Given the description of an element on the screen output the (x, y) to click on. 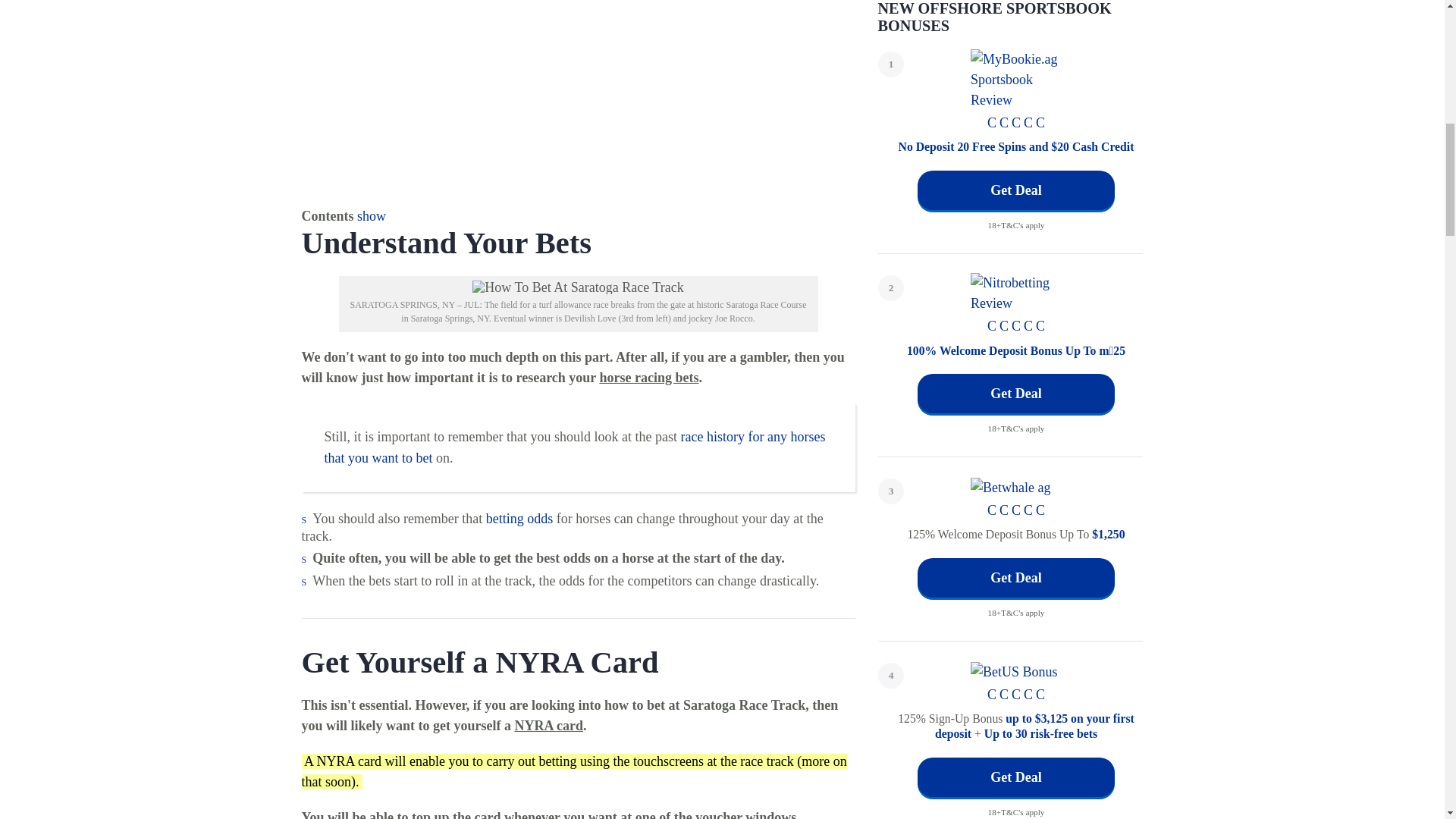
How To Bet At Saratoga Race Track 2 (576, 287)
MyBookie NFL Odds (519, 518)
Inside Saratoga Race Course (578, 95)
